Given the description of an element on the screen output the (x, y) to click on. 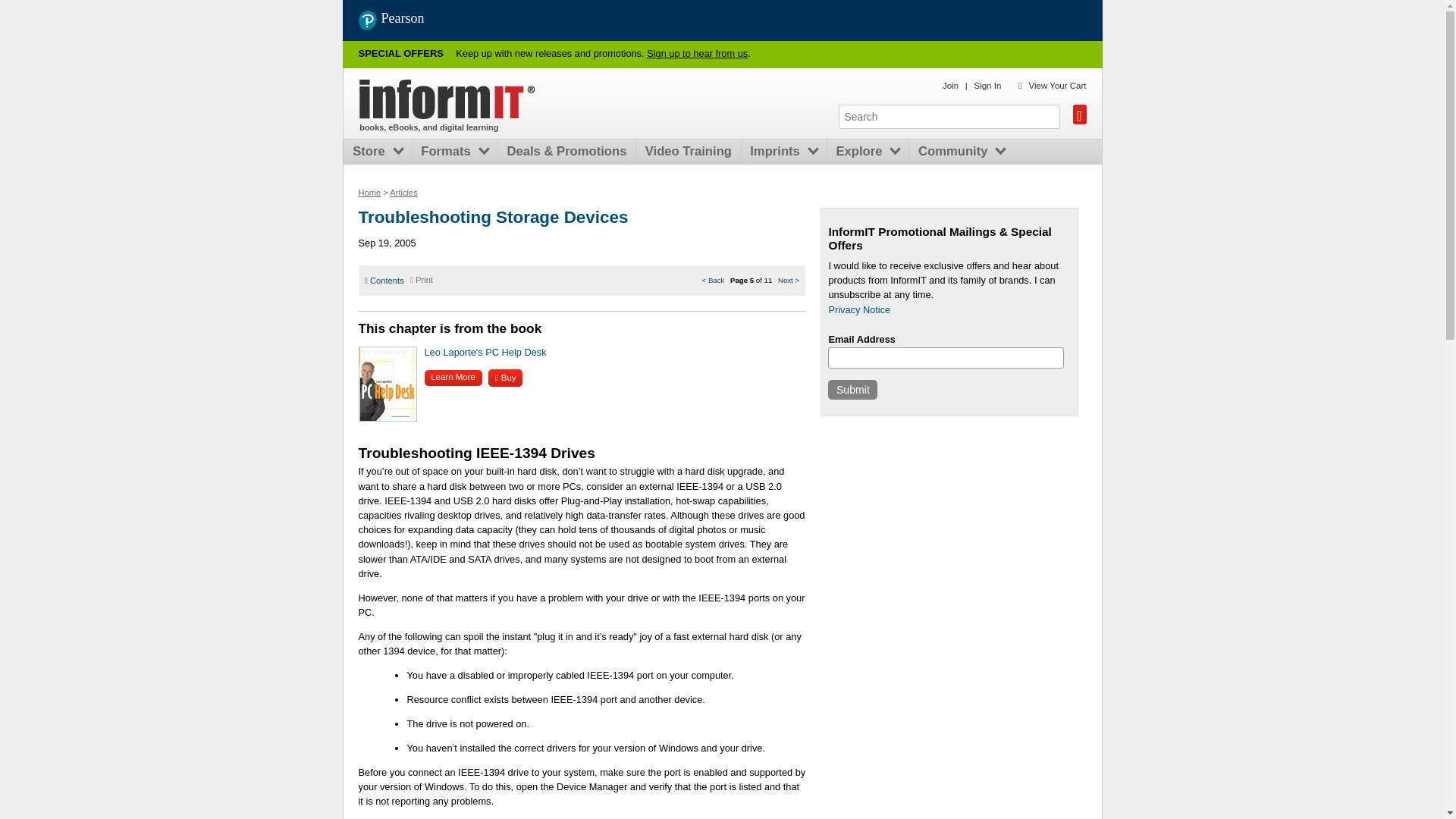
View Your Cart (1057, 85)
Sign up to hear from us (697, 52)
Home (369, 192)
Home (446, 98)
Learn More (453, 377)
Privacy Notice (858, 309)
Submit (852, 389)
Leo Laporte's PC Help Desk (486, 351)
Submit (852, 389)
Troubleshooting Storage Devices (492, 217)
Print (421, 279)
Articles (403, 192)
